Given the description of an element on the screen output the (x, y) to click on. 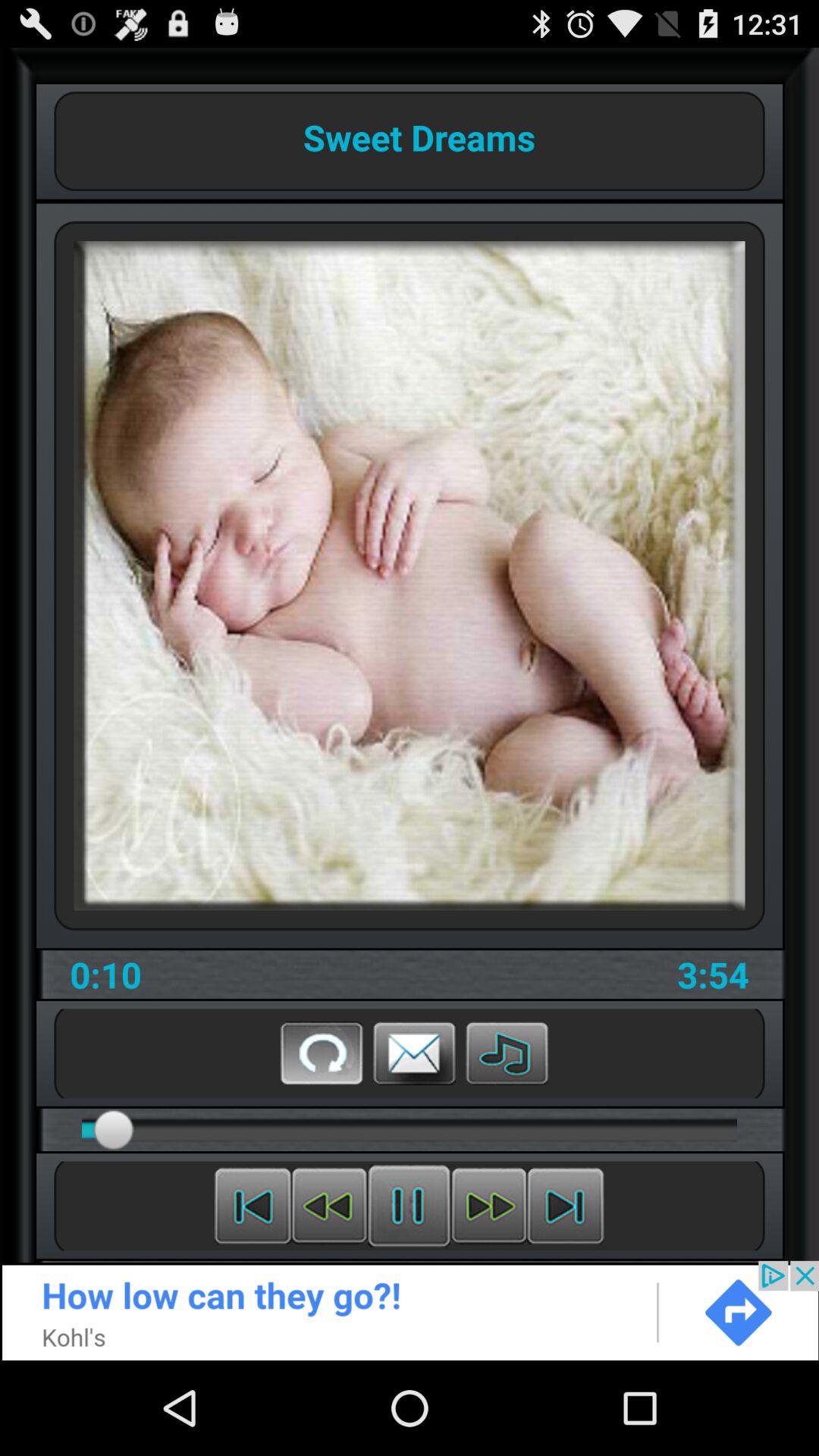
open advertisement (409, 1310)
